Given the description of an element on the screen output the (x, y) to click on. 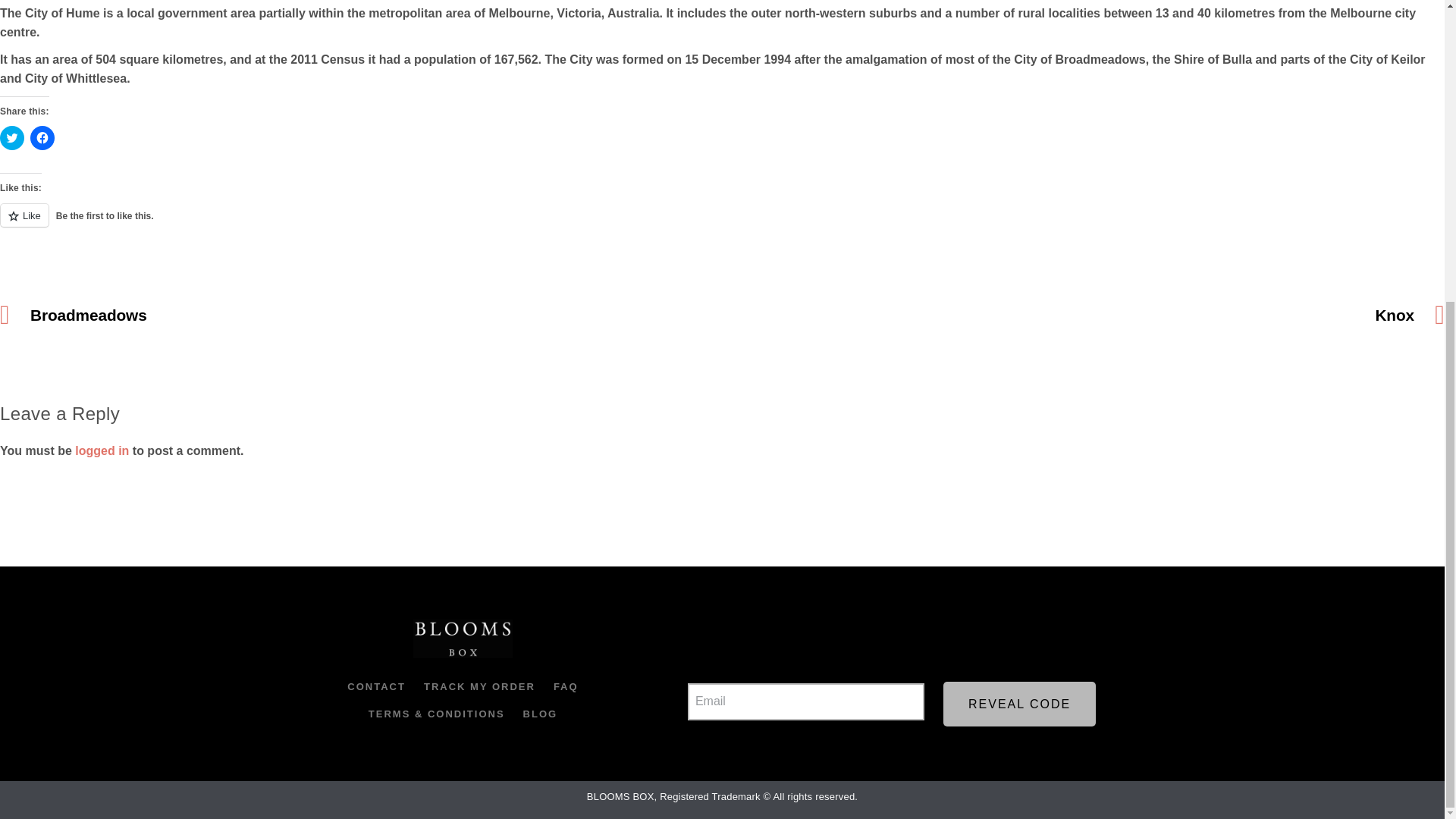
Click to share on Facebook (42, 137)
Click to share on Twitter (12, 137)
